Given the description of an element on the screen output the (x, y) to click on. 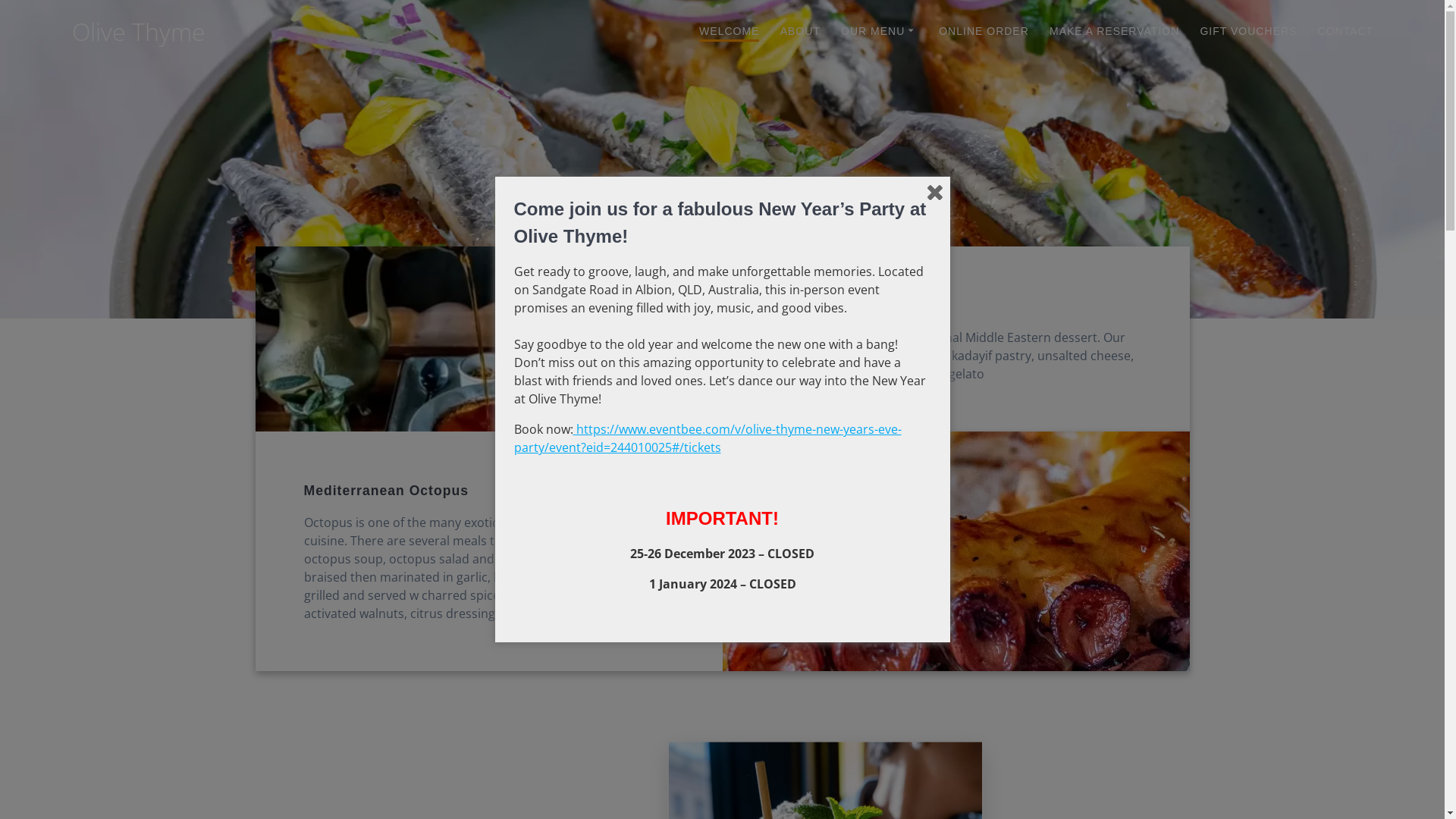
OUR MENU Element type: text (879, 31)
Olive Thyme Element type: text (138, 31)
GIFT VOUCHERS Element type: text (1247, 31)
ONLINE ORDER Element type: text (983, 31)
CONTACT Element type: text (1345, 31)
WELCOME Element type: text (729, 31)
ABOUT Element type: text (800, 31)
MAKE A RESERVATION Element type: text (1114, 31)
